Given the description of an element on the screen output the (x, y) to click on. 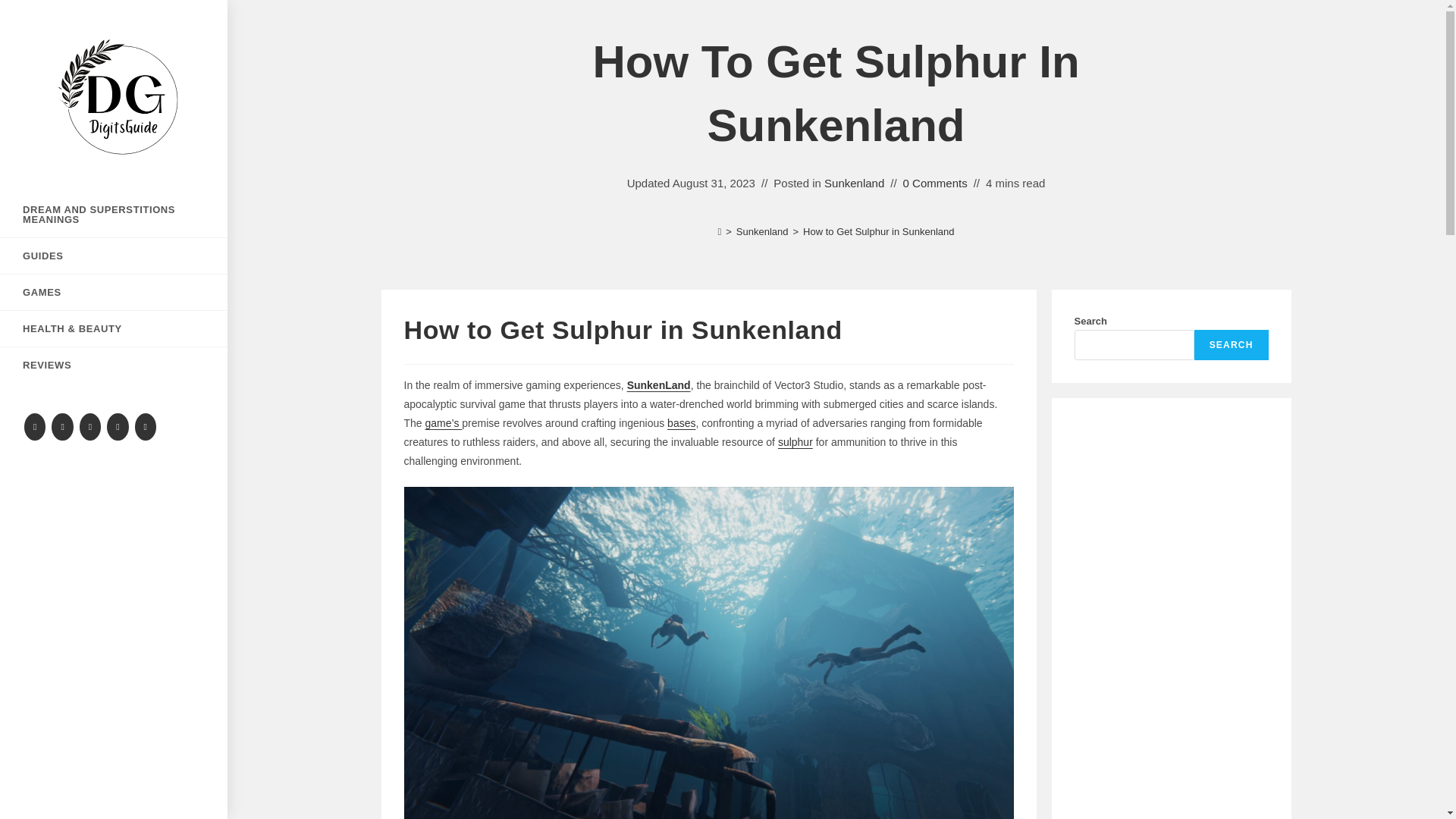
SunkenLand (658, 385)
GAMES (113, 292)
GUIDES (113, 255)
DREAM AND SUPERSTITIONS MEANINGS (113, 213)
0 Comments (935, 182)
sulphur (794, 441)
Sunkenland (853, 182)
How to Get Sulphur in Sunkenland (878, 231)
bases (680, 422)
Sunkenland (762, 231)
REVIEWS (113, 365)
